Given the description of an element on the screen output the (x, y) to click on. 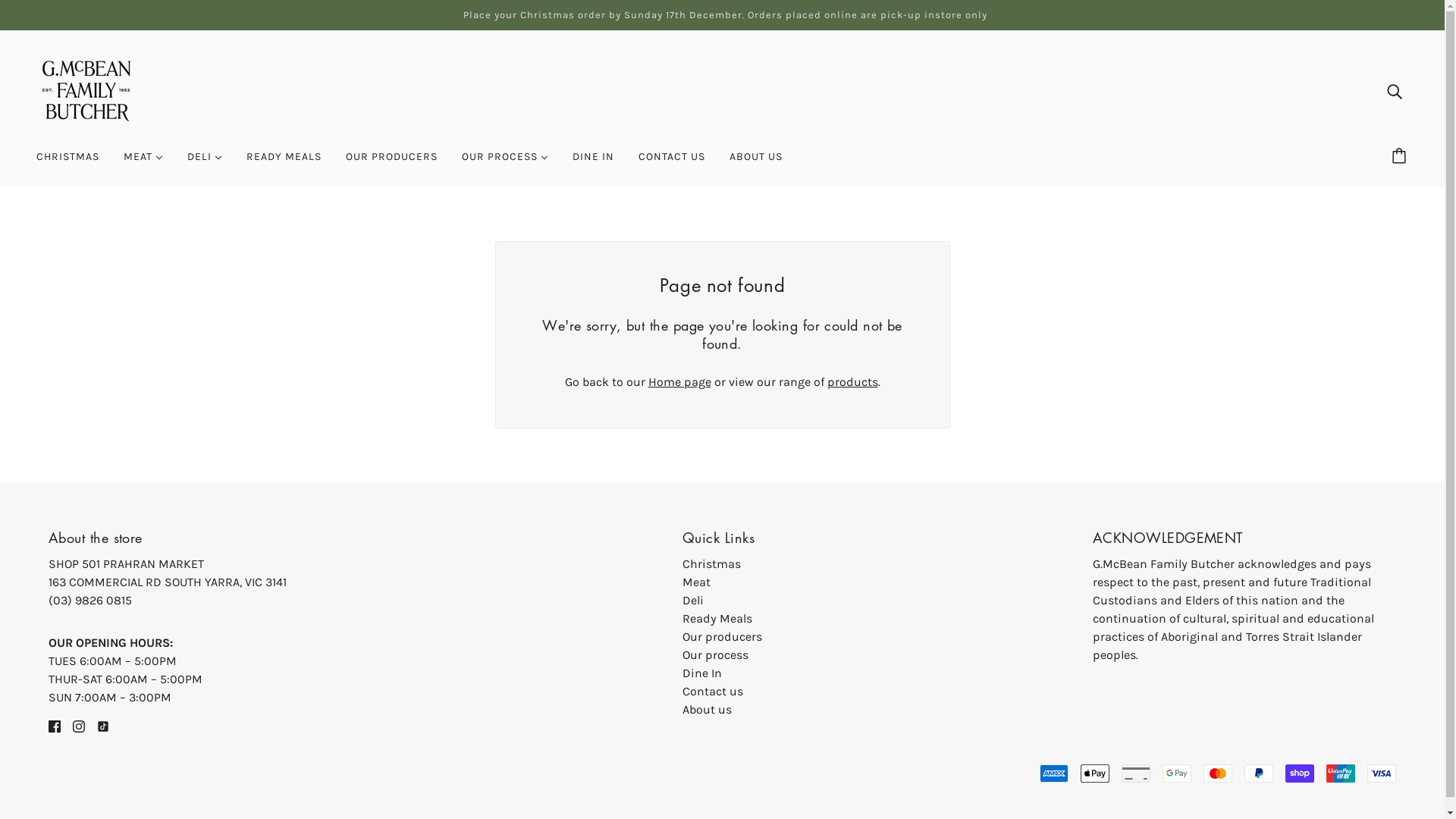
G.McBean Family Butcher Element type: hover (86, 89)
Our producers Element type: text (722, 636)
OUR PRODUCERS Element type: text (391, 162)
Our process Element type: text (715, 654)
Ready Meals Element type: text (717, 618)
Deli Element type: text (692, 600)
Christmas Element type: text (711, 563)
Dine In Element type: text (701, 672)
CONTACT US Element type: text (671, 162)
READY MEALS Element type: text (283, 162)
MEAT Element type: text (143, 162)
About us Element type: text (706, 709)
CHRISTMAS Element type: text (67, 162)
Home page Element type: text (678, 381)
ABOUT US Element type: text (755, 162)
products Element type: text (851, 381)
DELI Element type: text (204, 162)
DINE IN Element type: text (593, 162)
Contact us Element type: text (712, 691)
Meat Element type: text (696, 581)
OUR PROCESS Element type: text (504, 162)
